Given the description of an element on the screen output the (x, y) to click on. 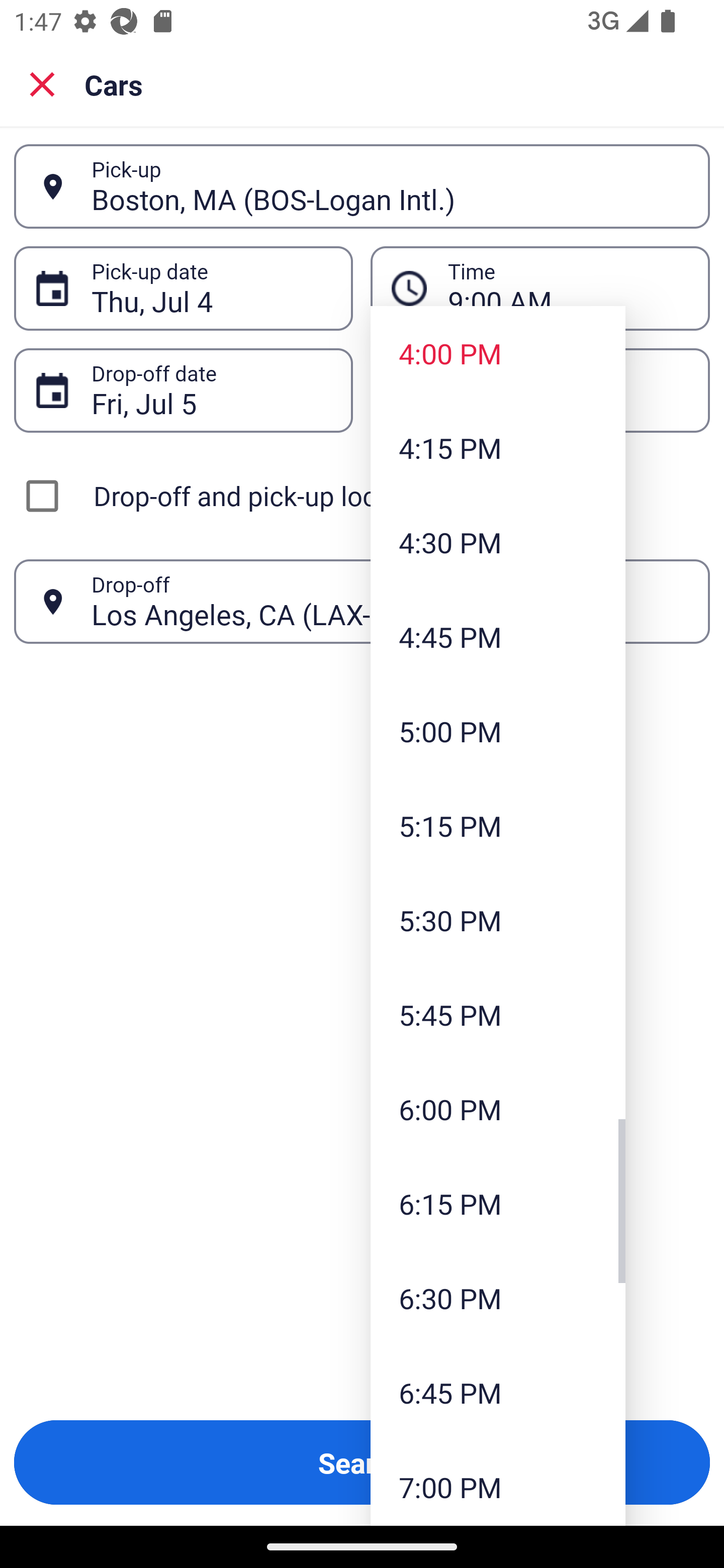
4:00 PM (497, 352)
4:15 PM (497, 447)
4:30 PM (497, 542)
4:45 PM (497, 636)
5:00 PM (497, 730)
5:15 PM (497, 825)
5:30 PM (497, 920)
5:45 PM (497, 1014)
6:00 PM (497, 1109)
6:15 PM (497, 1204)
6:30 PM (497, 1298)
6:45 PM (497, 1392)
7:00 PM (497, 1482)
